Given the description of an element on the screen output the (x, y) to click on. 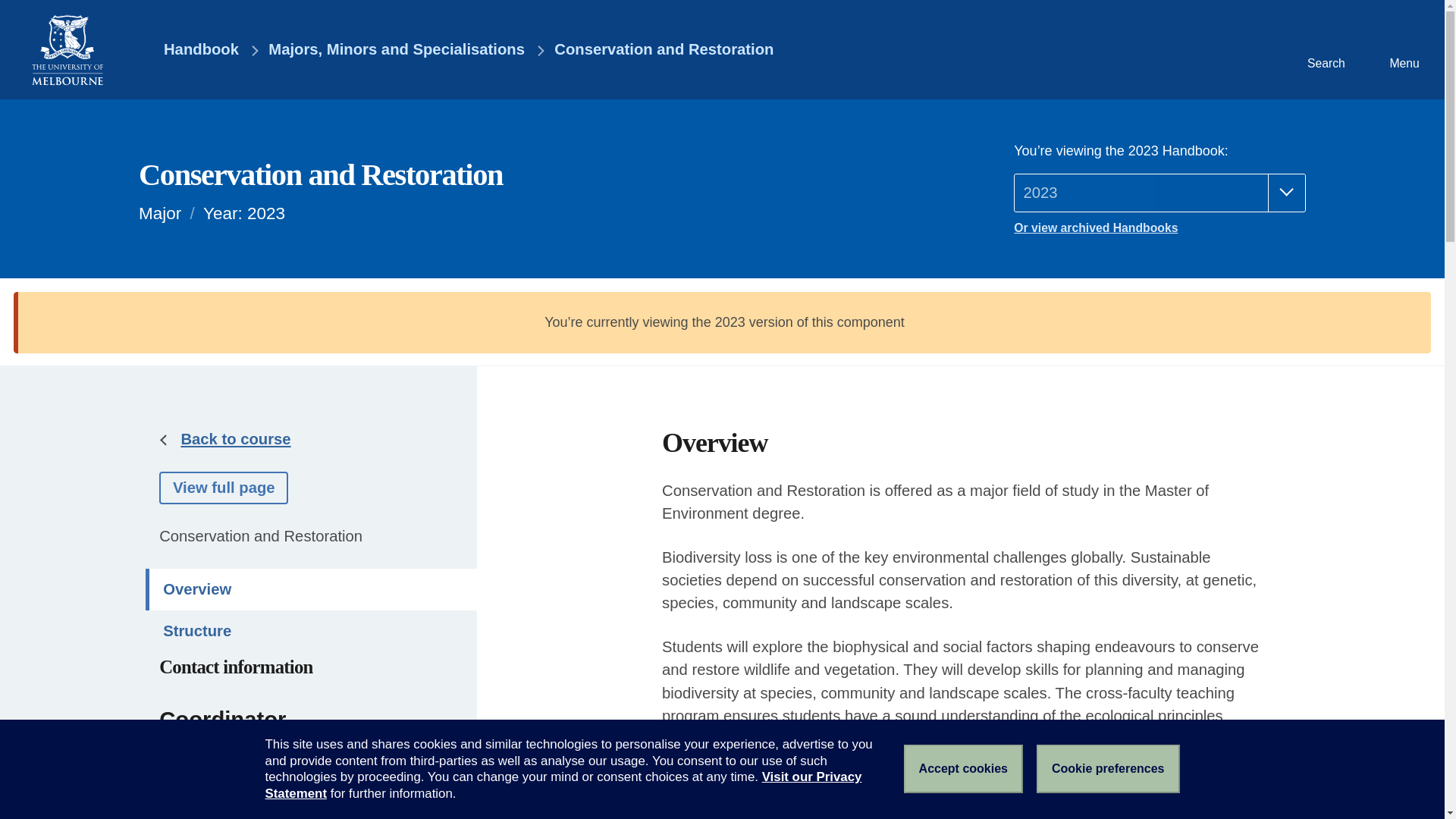
Conservation and Restoration (663, 49)
Overview (311, 589)
Handbook (189, 49)
Majors, Minors and Specialisations (395, 49)
Search (1324, 49)
View full page (223, 487)
Search (1324, 49)
Or view archived Handbooks (1159, 228)
Structure (311, 630)
Back to course (234, 438)
